Given the description of an element on the screen output the (x, y) to click on. 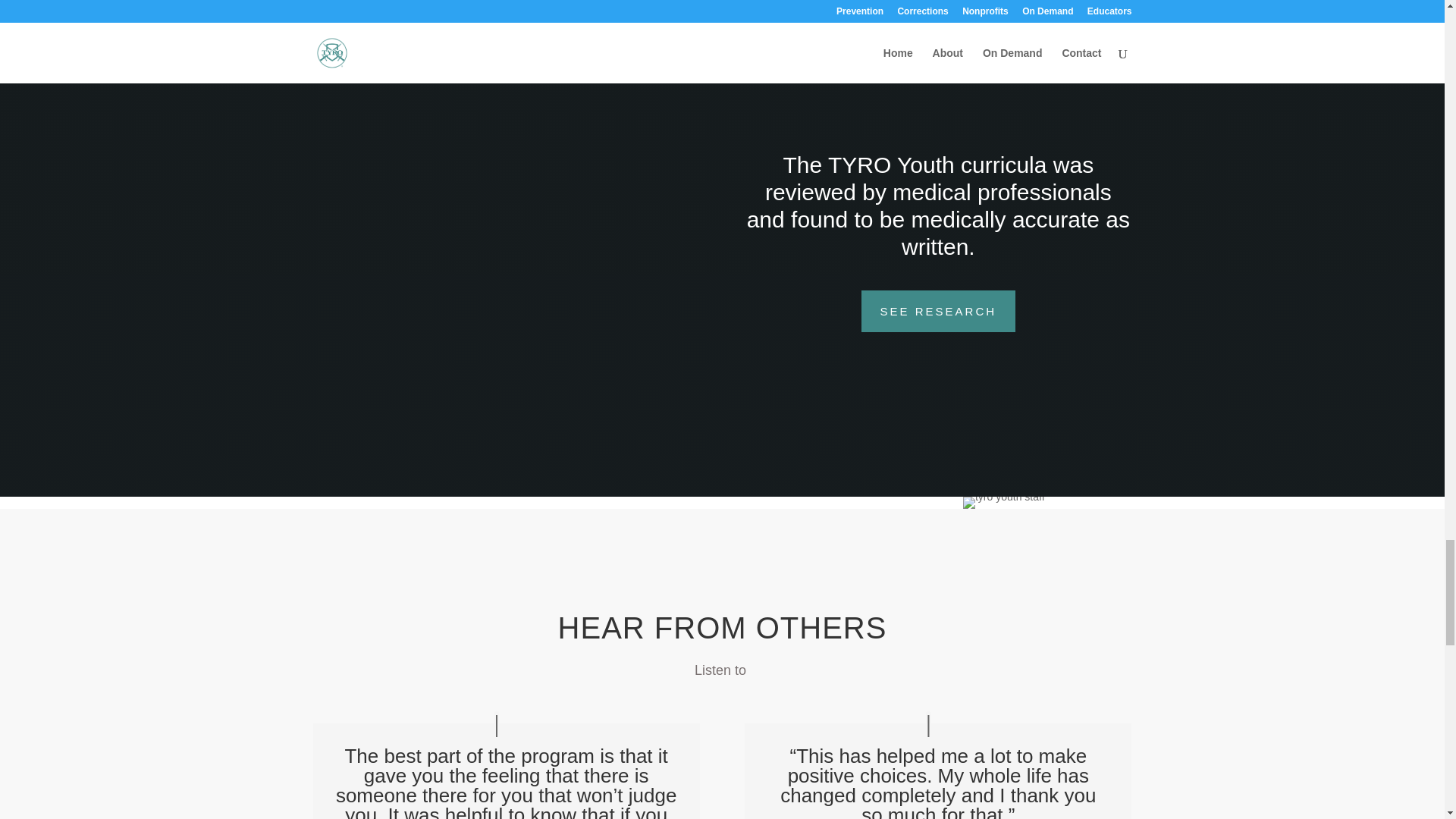
tyro youth staff (1003, 502)
SEE RESEARCH (938, 311)
